Given the description of an element on the screen output the (x, y) to click on. 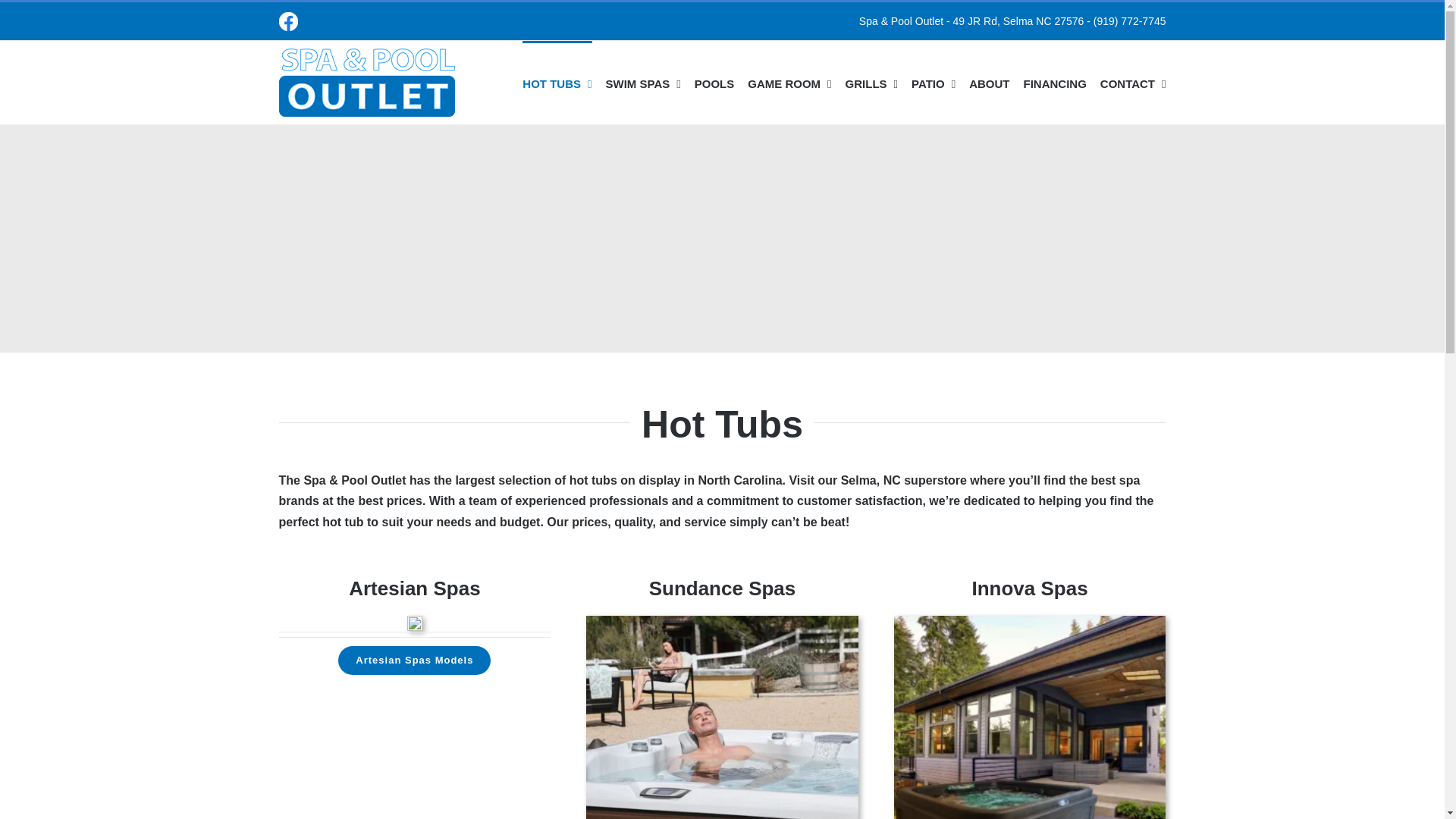
SWIM SPAS (642, 82)
Custom (288, 21)
GAME ROOM (789, 82)
